Given the description of an element on the screen output the (x, y) to click on. 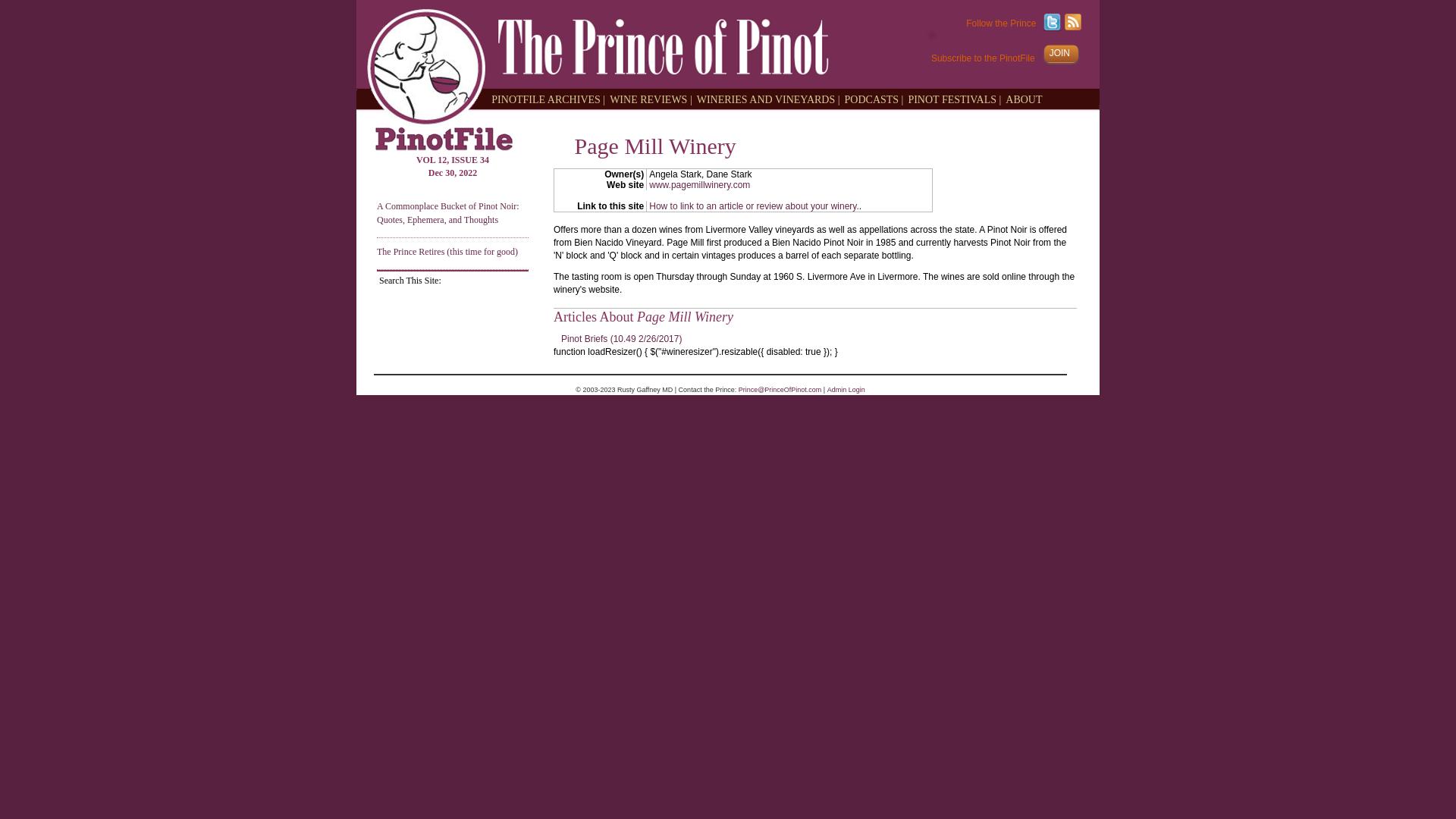
JOIN (1056, 52)
www.pagemillwinery.com (699, 184)
How to link to an article or review about your winery. (754, 205)
JOIN (1060, 54)
ABOUT (1026, 99)
Admin Login (845, 389)
